Given the description of an element on the screen output the (x, y) to click on. 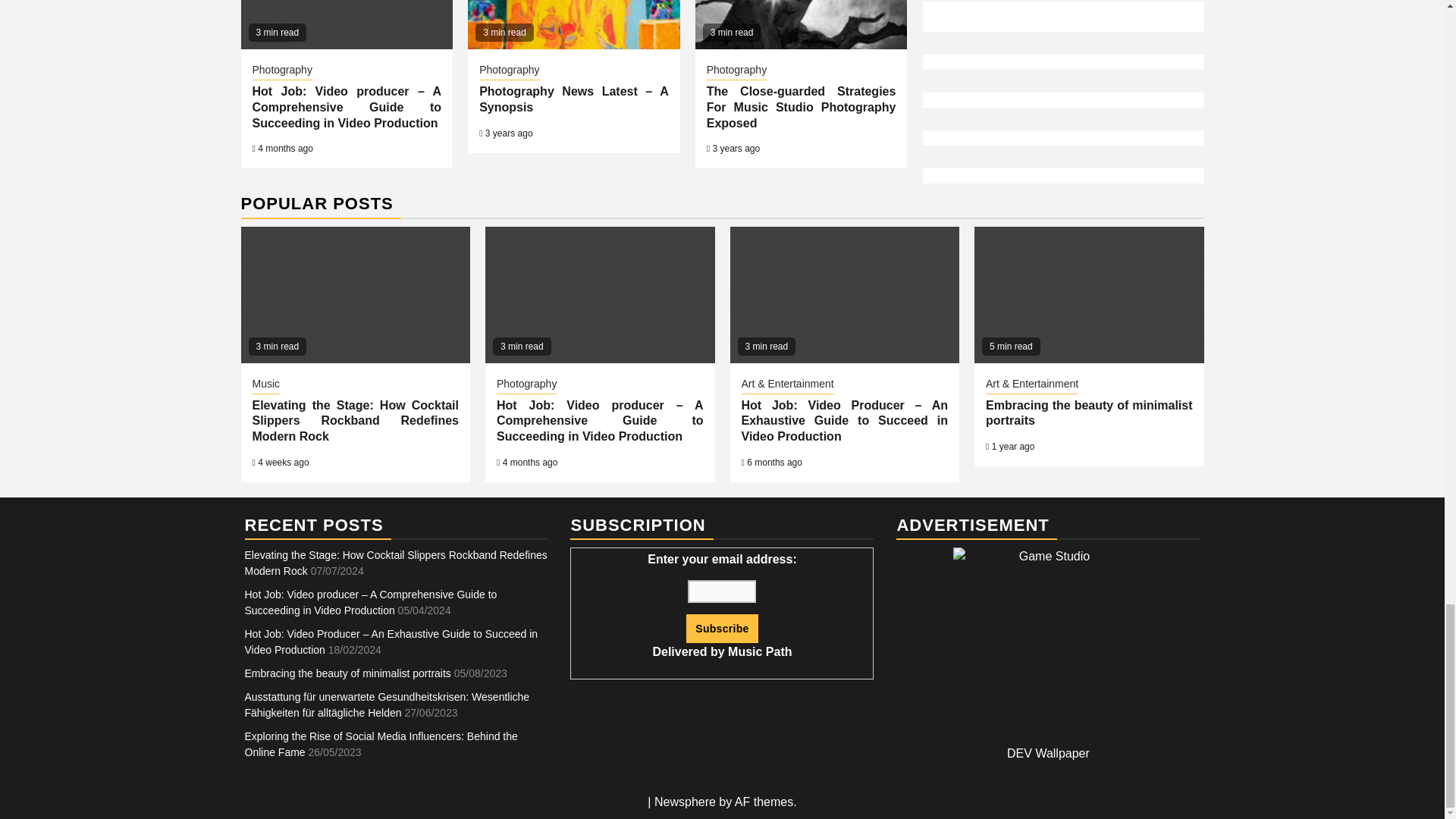
Photography News Latest - A Synopsis 5 (573, 24)
Photography (736, 71)
Subscribe (721, 628)
Photography (508, 71)
Photography (281, 71)
